Given the description of an element on the screen output the (x, y) to click on. 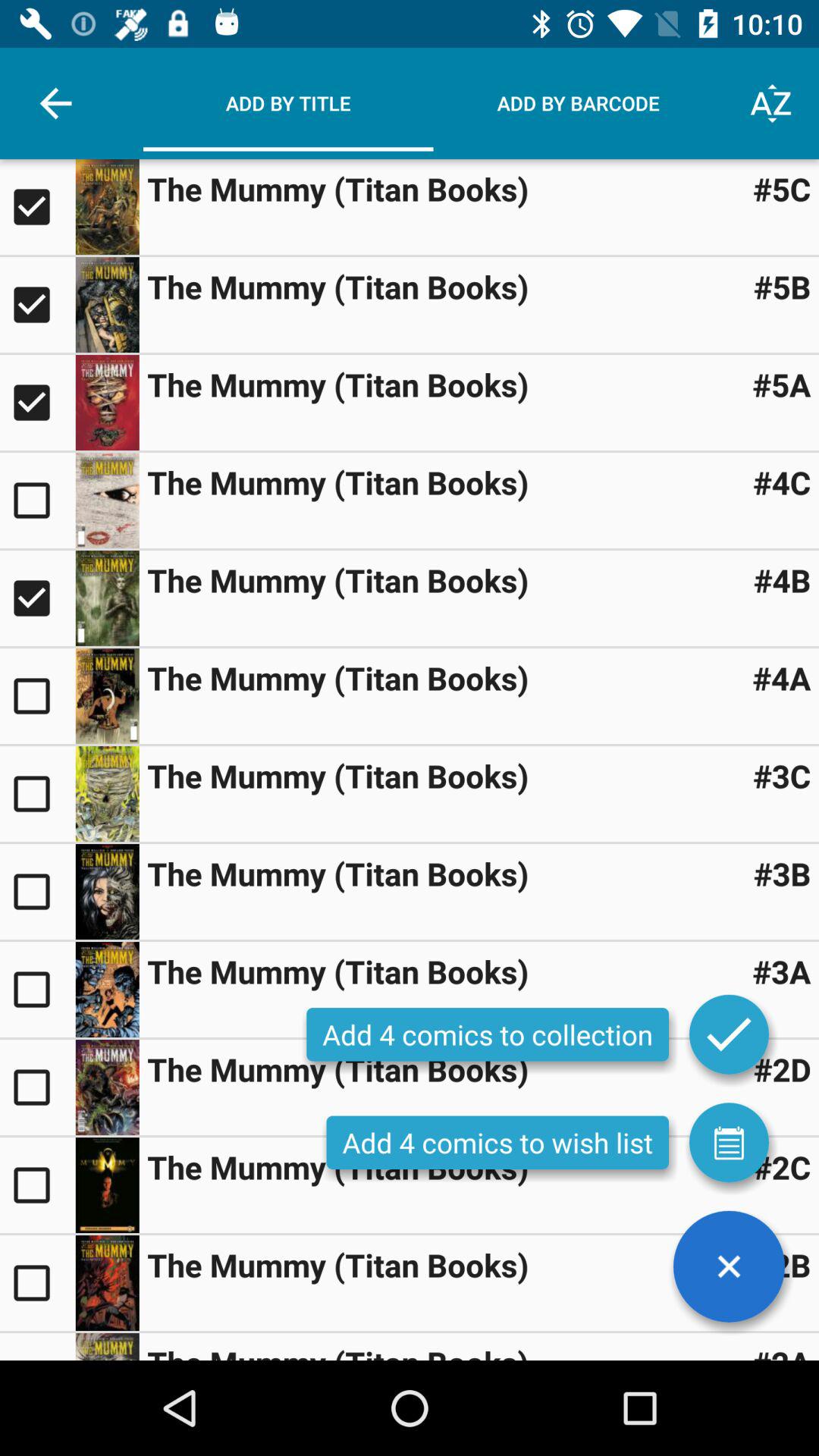
open item next to the mummy titan icon (782, 1166)
